Given the description of an element on the screen output the (x, y) to click on. 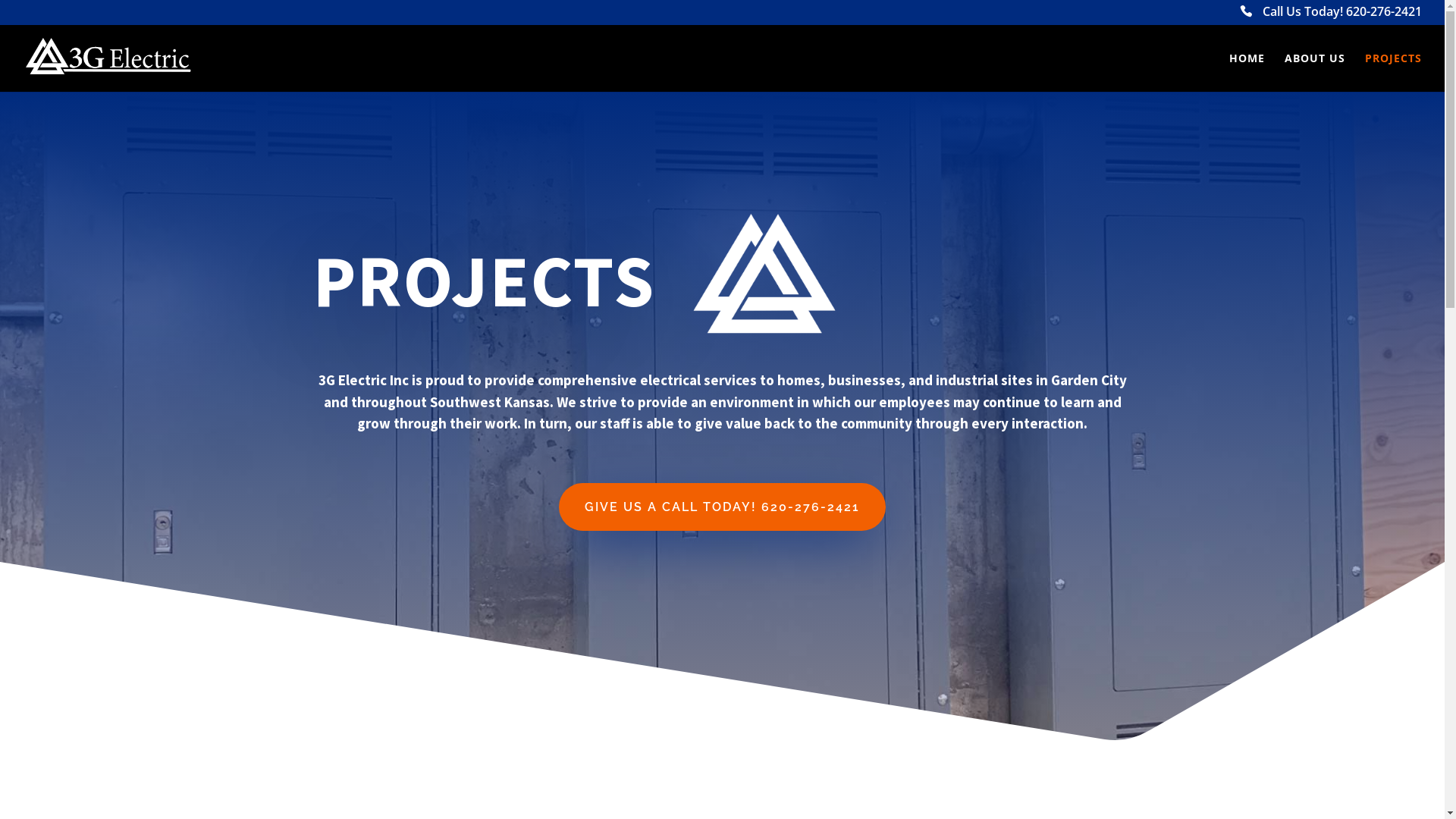
ABOUT US Element type: text (1314, 72)
Call Us Today! 620-276-2421 Element type: text (1330, 15)
GIVE US A CALL TODAY! 620-276-2421 Element type: text (721, 506)
PROJECTS Element type: text (1393, 72)
HOME Element type: text (1246, 72)
